Given the description of an element on the screen output the (x, y) to click on. 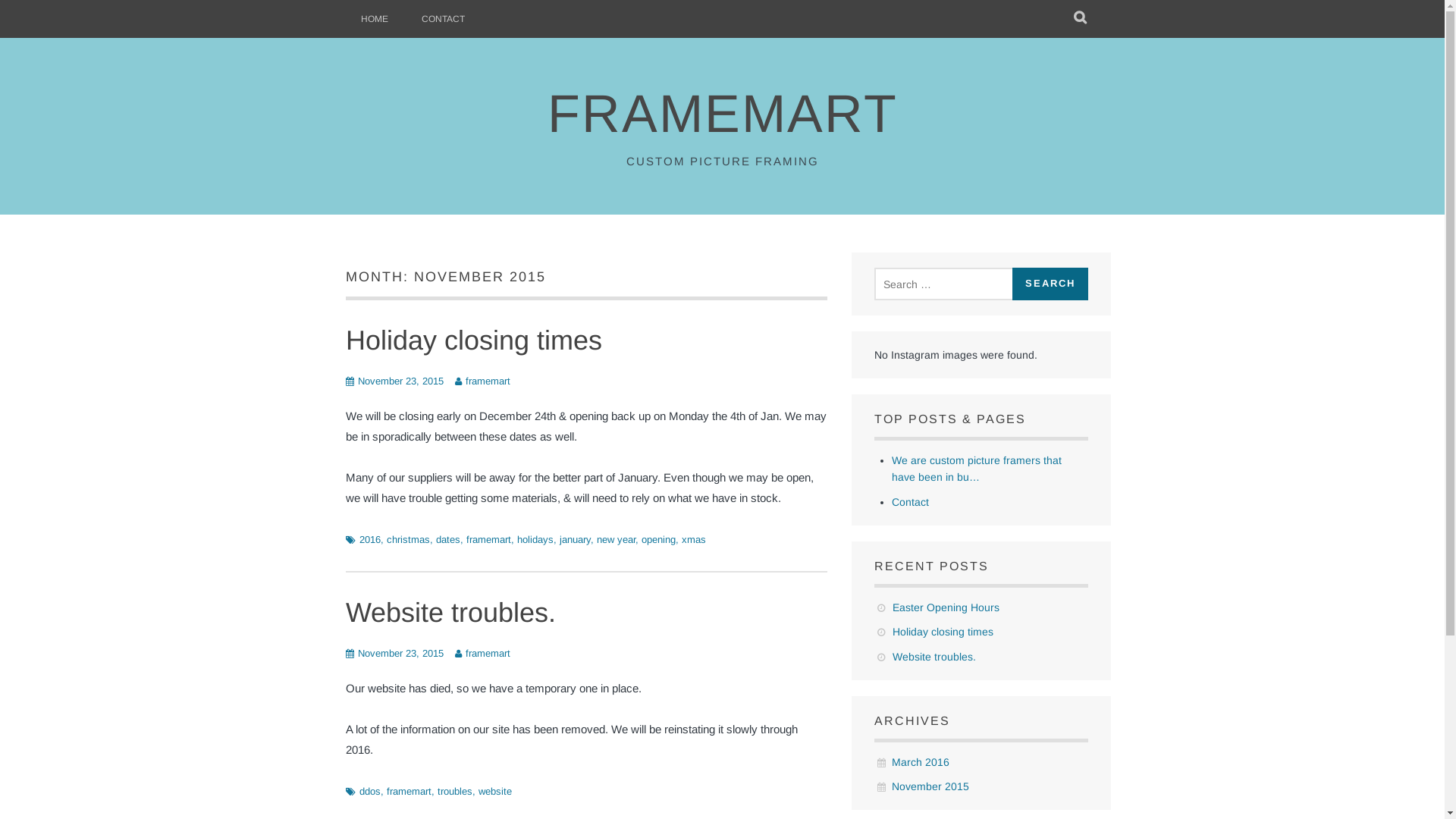
framemart Element type: text (487, 380)
Easter Opening Hours Element type: text (945, 607)
framemart Element type: text (408, 791)
Holiday closing times Element type: text (473, 339)
November 23, 2015 Element type: text (400, 380)
dates Element type: text (447, 539)
ddos Element type: text (369, 791)
xmas Element type: text (692, 539)
holidays Element type: text (535, 539)
framemart Element type: text (487, 539)
SEARCH Element type: text (1079, 18)
opening Element type: text (658, 539)
CONTACT Element type: text (443, 18)
christmas Element type: text (407, 539)
Website troubles. Element type: text (450, 611)
HOME Element type: text (374, 18)
new year Element type: text (615, 539)
troubles Element type: text (453, 791)
framemart Element type: text (487, 652)
Search Element type: text (1049, 283)
Website troubles. Element type: text (933, 656)
Holiday closing times Element type: text (942, 631)
November 2015 Element type: text (930, 786)
March 2016 Element type: text (920, 762)
website Element type: text (494, 791)
2016 Element type: text (369, 539)
November 23, 2015 Element type: text (400, 652)
FRAMEMART Element type: text (722, 113)
january Element type: text (574, 539)
Contact Element type: text (909, 501)
